Given the description of an element on the screen output the (x, y) to click on. 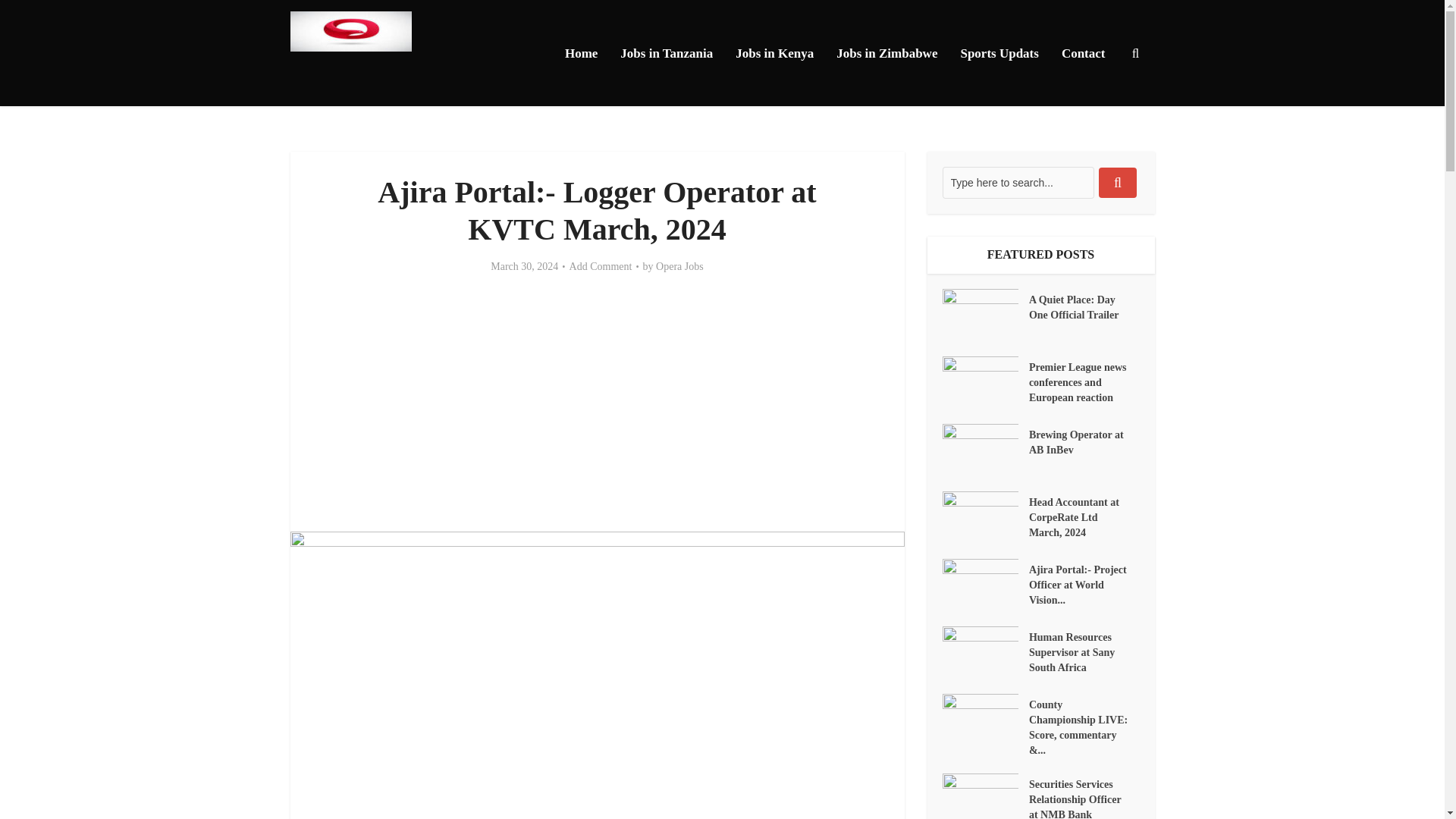
Type here to search... (1017, 183)
Opera Jobs (679, 266)
Type here to search... (1017, 183)
Sports Updats (999, 53)
Add Comment (600, 266)
Jobs in Zimbabwe (887, 53)
Jobs in Kenya (774, 53)
Jobs in Tanzania (665, 53)
